Given the description of an element on the screen output the (x, y) to click on. 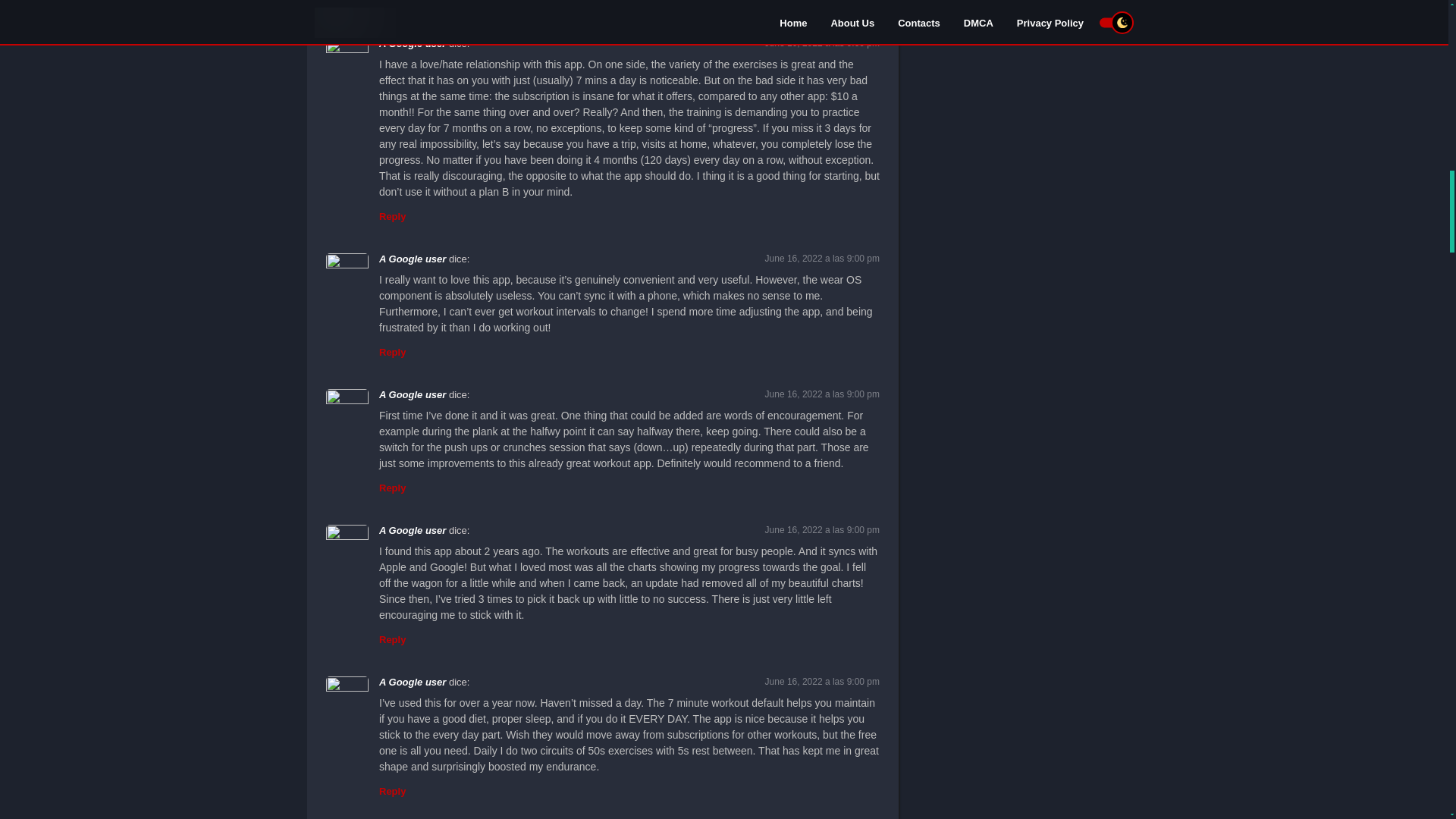
Reply (392, 3)
June 16, 2022 a las 9:00 pm (822, 42)
June 16, 2022 a las 9:00 pm (822, 258)
A Google user (411, 43)
A Google user (411, 258)
Reply (392, 215)
